Given the description of an element on the screen output the (x, y) to click on. 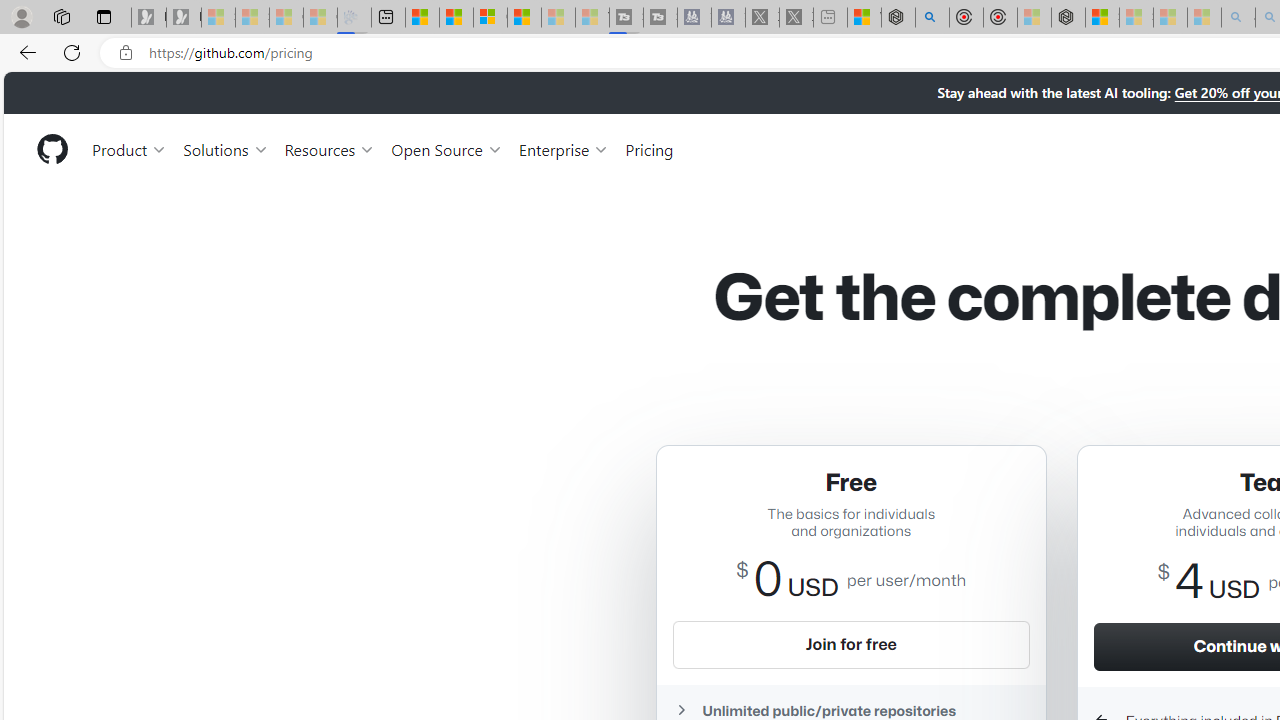
Nordace - Nordace Siena Is Not An Ordinary Backpack (1068, 17)
Wildlife - MSN (863, 17)
Resources (330, 148)
Product (130, 148)
Solutions (225, 148)
Product (130, 148)
